Given the description of an element on the screen output the (x, y) to click on. 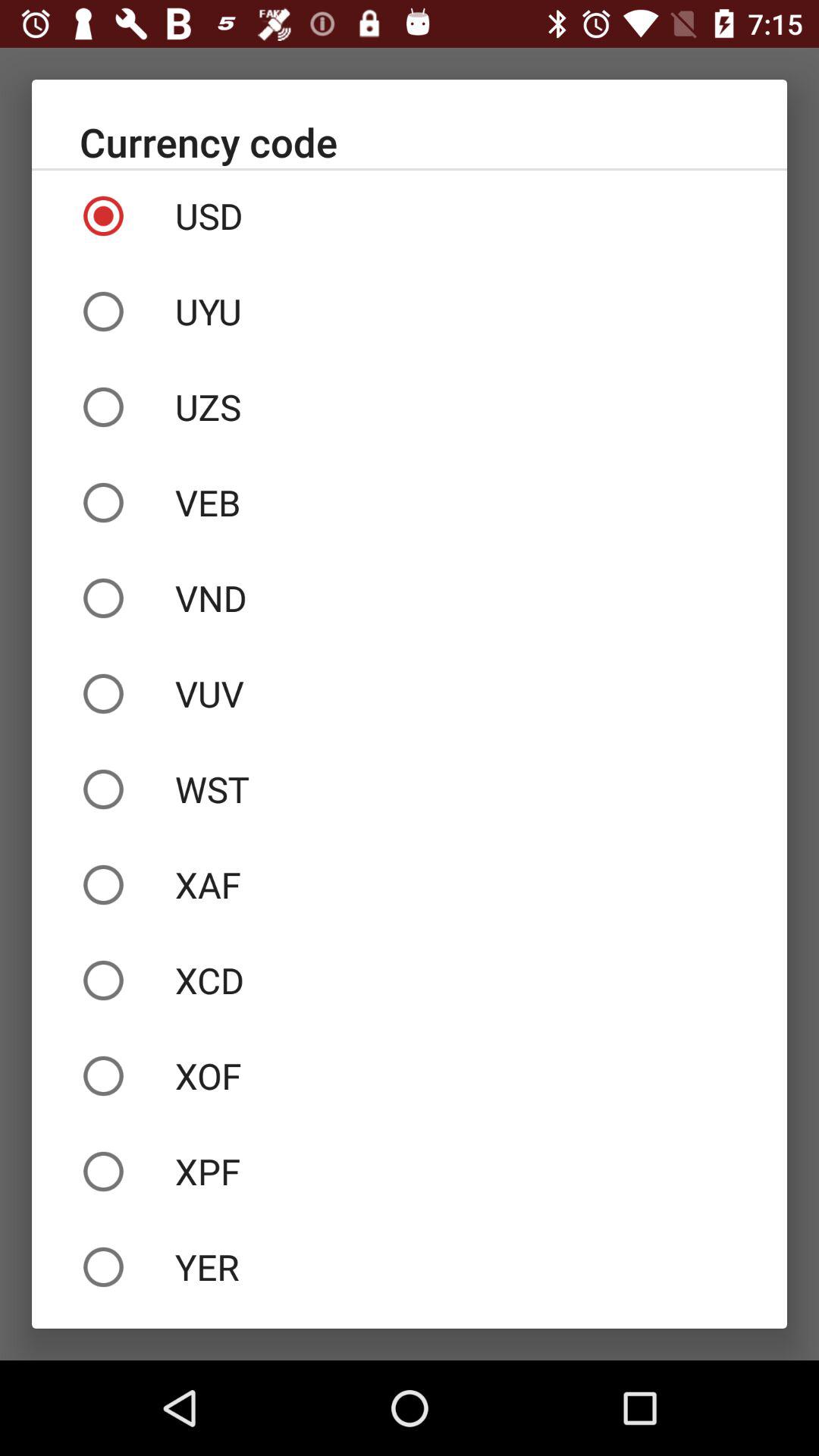
choose icon above the uyu item (409, 215)
